Given the description of an element on the screen output the (x, y) to click on. 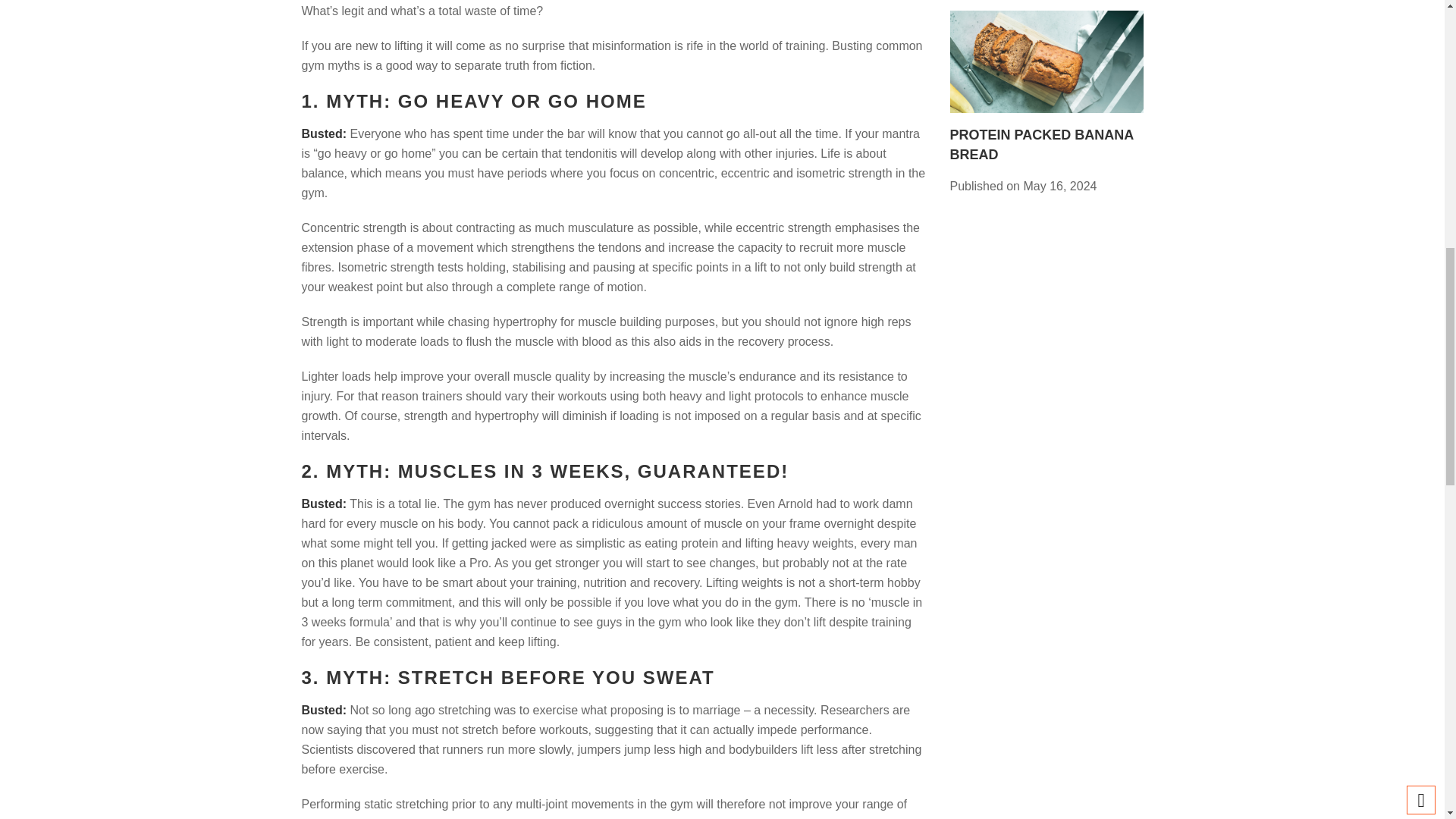
May 16, 2024 (1059, 186)
PROTEIN PACKED BANANA BREAD (1045, 144)
